Given the description of an element on the screen output the (x, y) to click on. 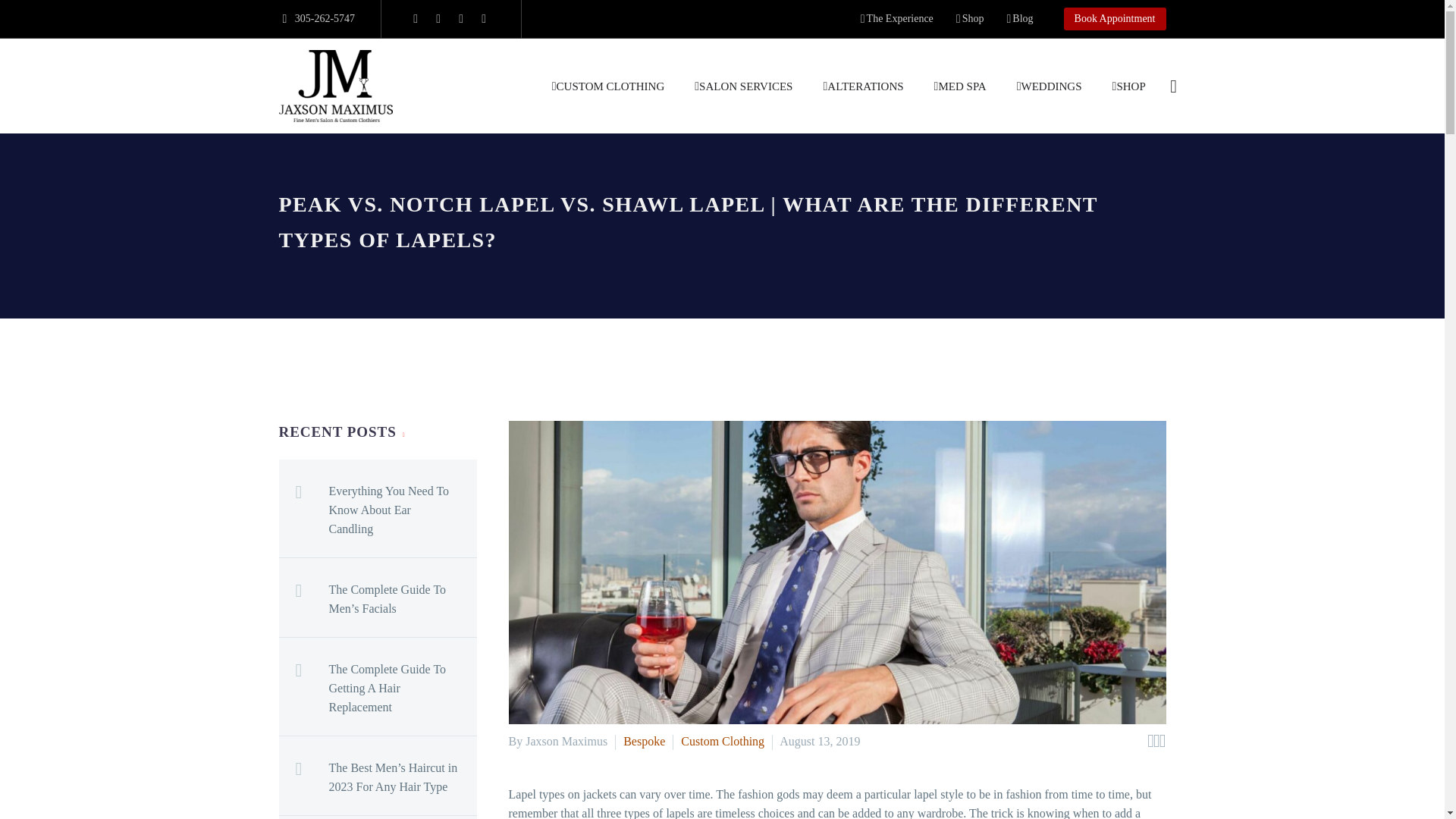
SALON SERVICES (743, 85)
CUSTOM CLOTHING (608, 85)
Shop (970, 18)
LinkedIn (437, 19)
Book Appointment (1115, 18)
The Experience (896, 18)
YouTube (483, 19)
View all posts in Custom Clothing (722, 740)
Blog (1019, 18)
Facebook (415, 19)
